Given the description of an element on the screen output the (x, y) to click on. 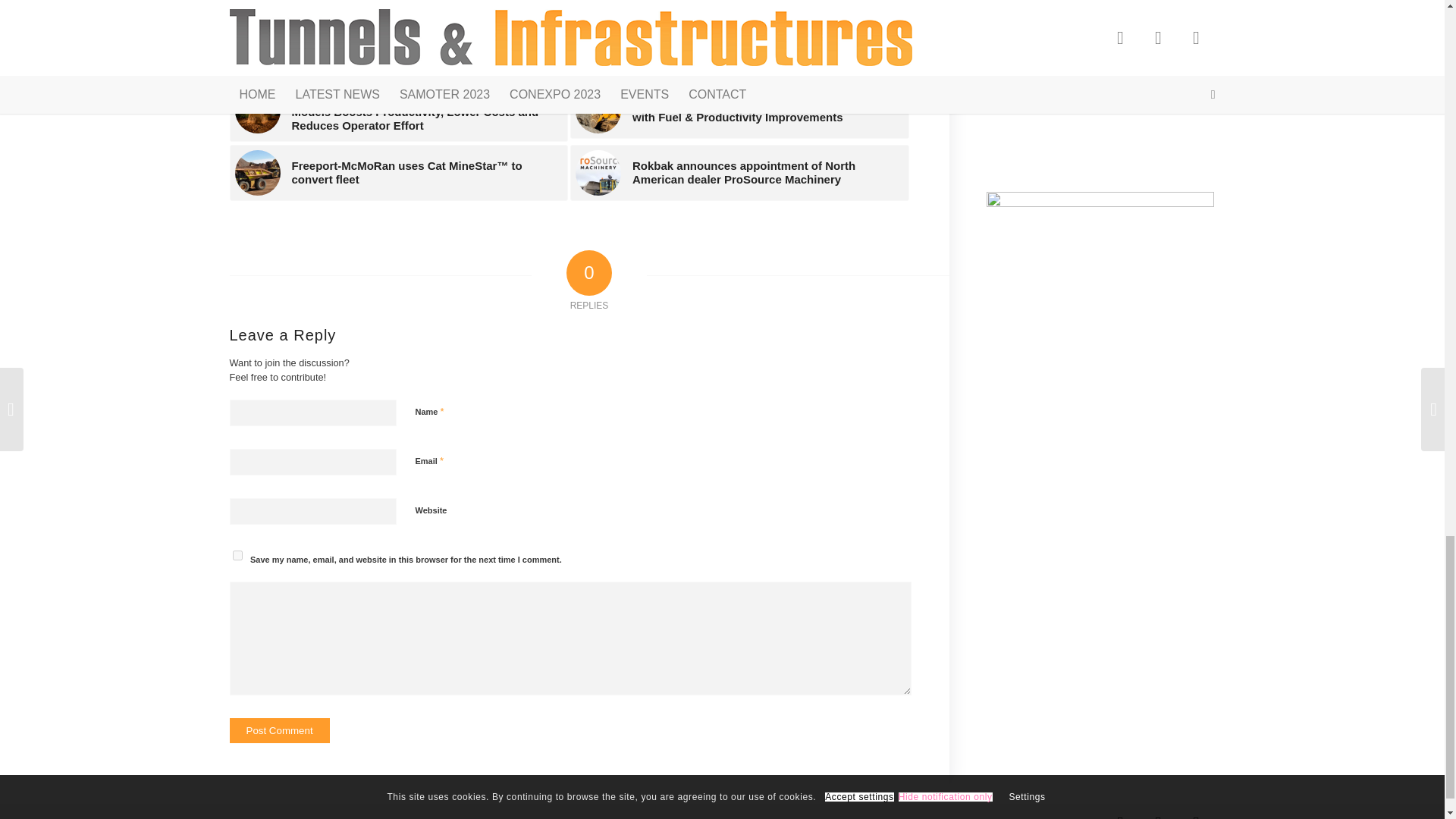
Post Comment (278, 730)
New Cat D6 dozer delivers new levels of efficiency (739, 51)
Caterpillar produces 40,000th larger dozer (397, 51)
1 (423, 587)
yes (236, 555)
